Given the description of an element on the screen output the (x, y) to click on. 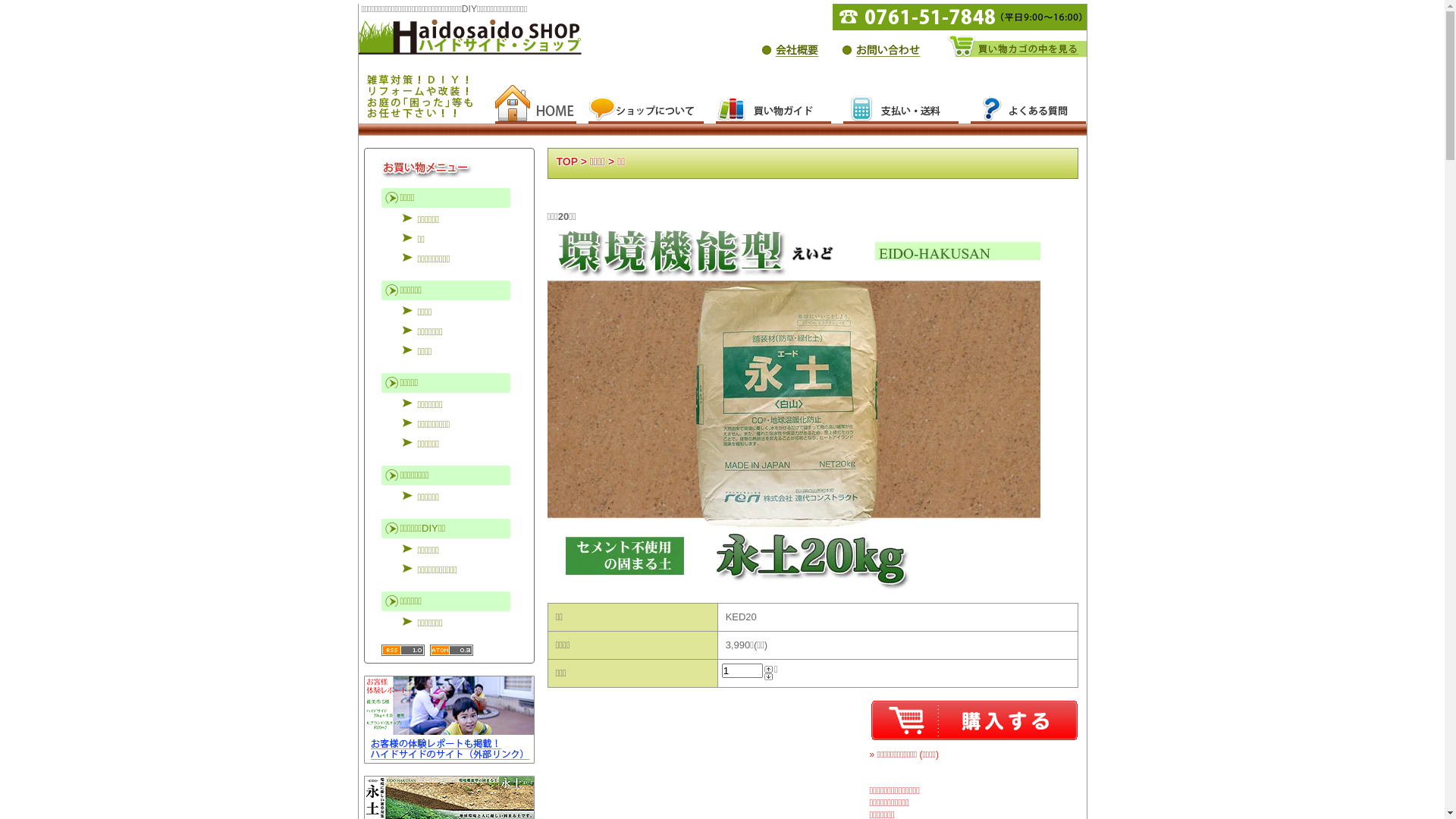
TOP Element type: text (566, 161)
